Given the description of an element on the screen output the (x, y) to click on. 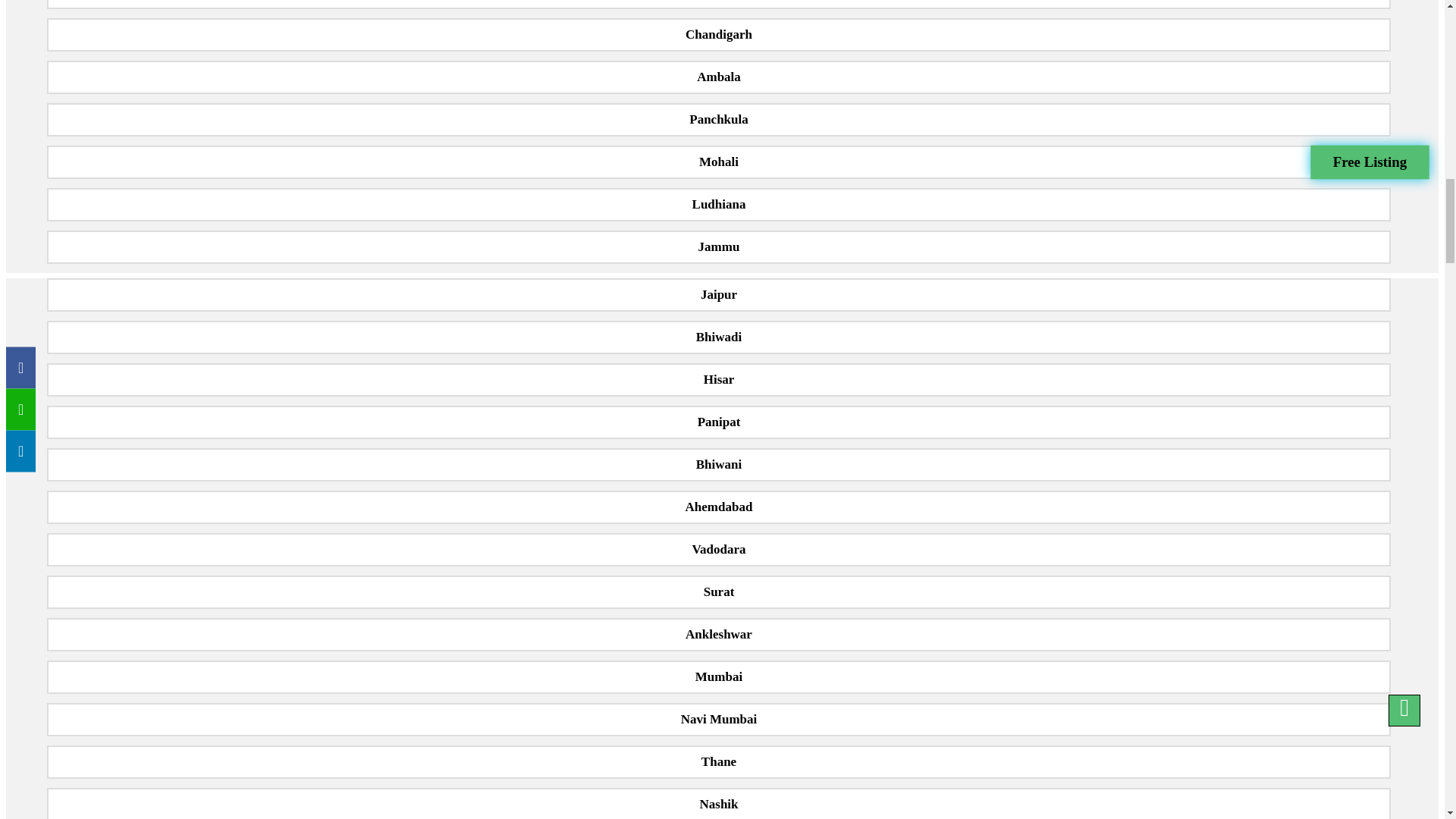
Ambala (718, 77)
Chandigarh (718, 34)
Panchkula (718, 119)
